Given the description of an element on the screen output the (x, y) to click on. 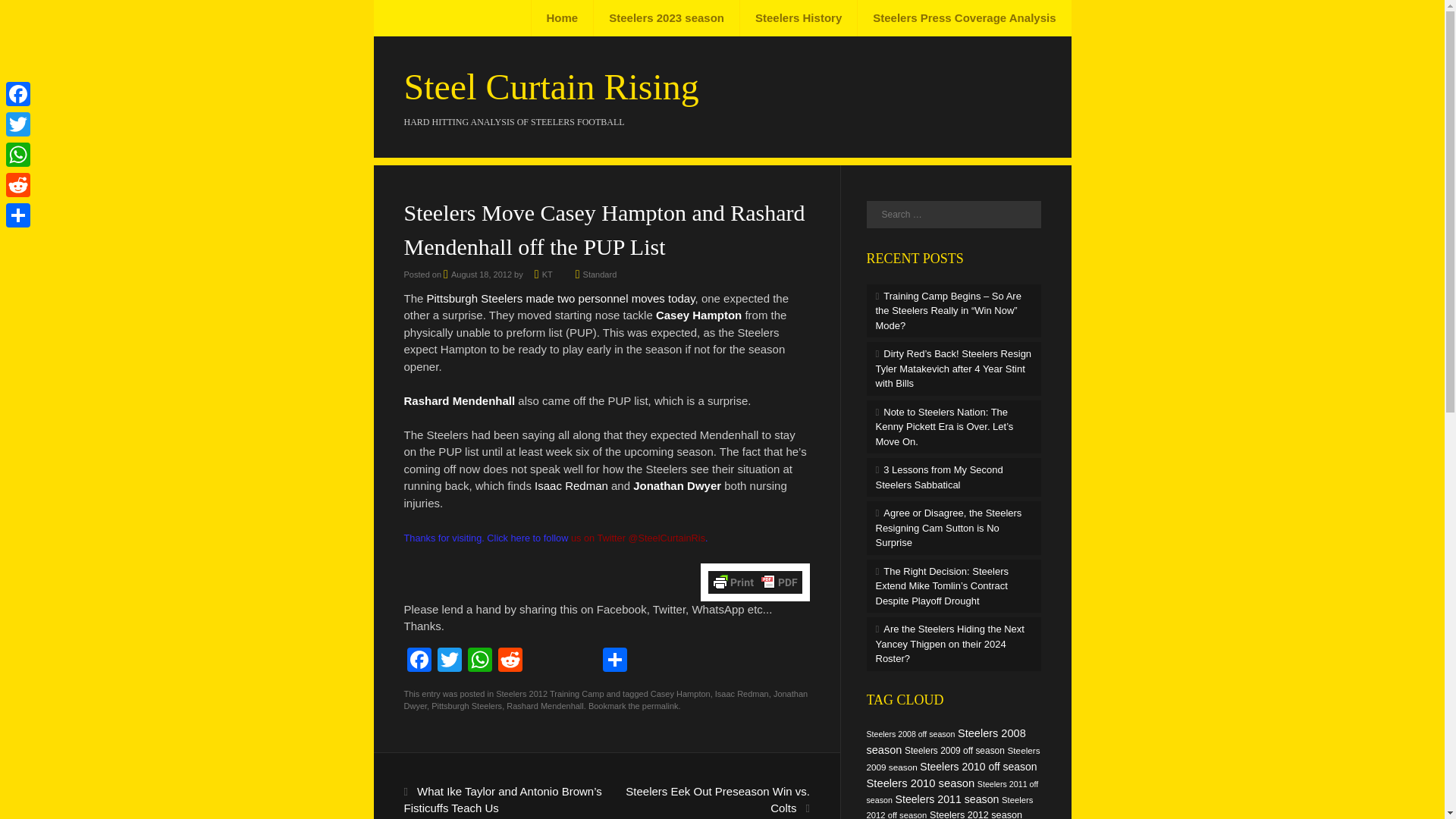
Casey Hampton (698, 314)
WhatsApp (479, 661)
Steelers History (798, 18)
Steelers Press Coverage Analysis (963, 18)
Jonathan Dwyer (605, 699)
4:51 AM (478, 274)
41 topics (910, 733)
Reddit (509, 661)
Isaac Redman (571, 485)
Twitter (448, 661)
Facebook (418, 661)
Jonathan Dwyer (676, 485)
Reddit (509, 661)
August 18, 2012 (478, 274)
WhatsApp (479, 661)
